Given the description of an element on the screen output the (x, y) to click on. 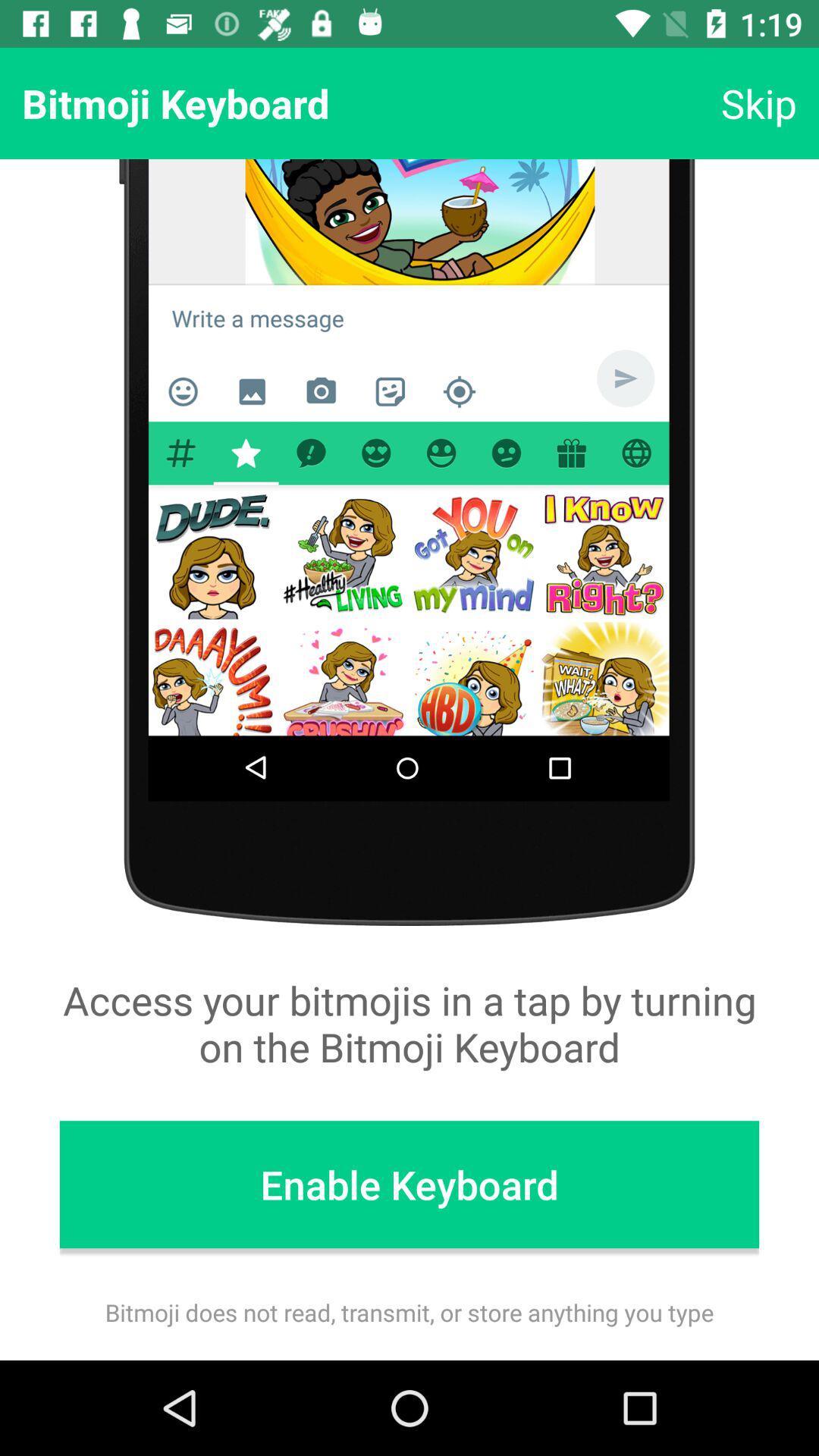
turn on enable keyboard icon (409, 1184)
